Given the description of an element on the screen output the (x, y) to click on. 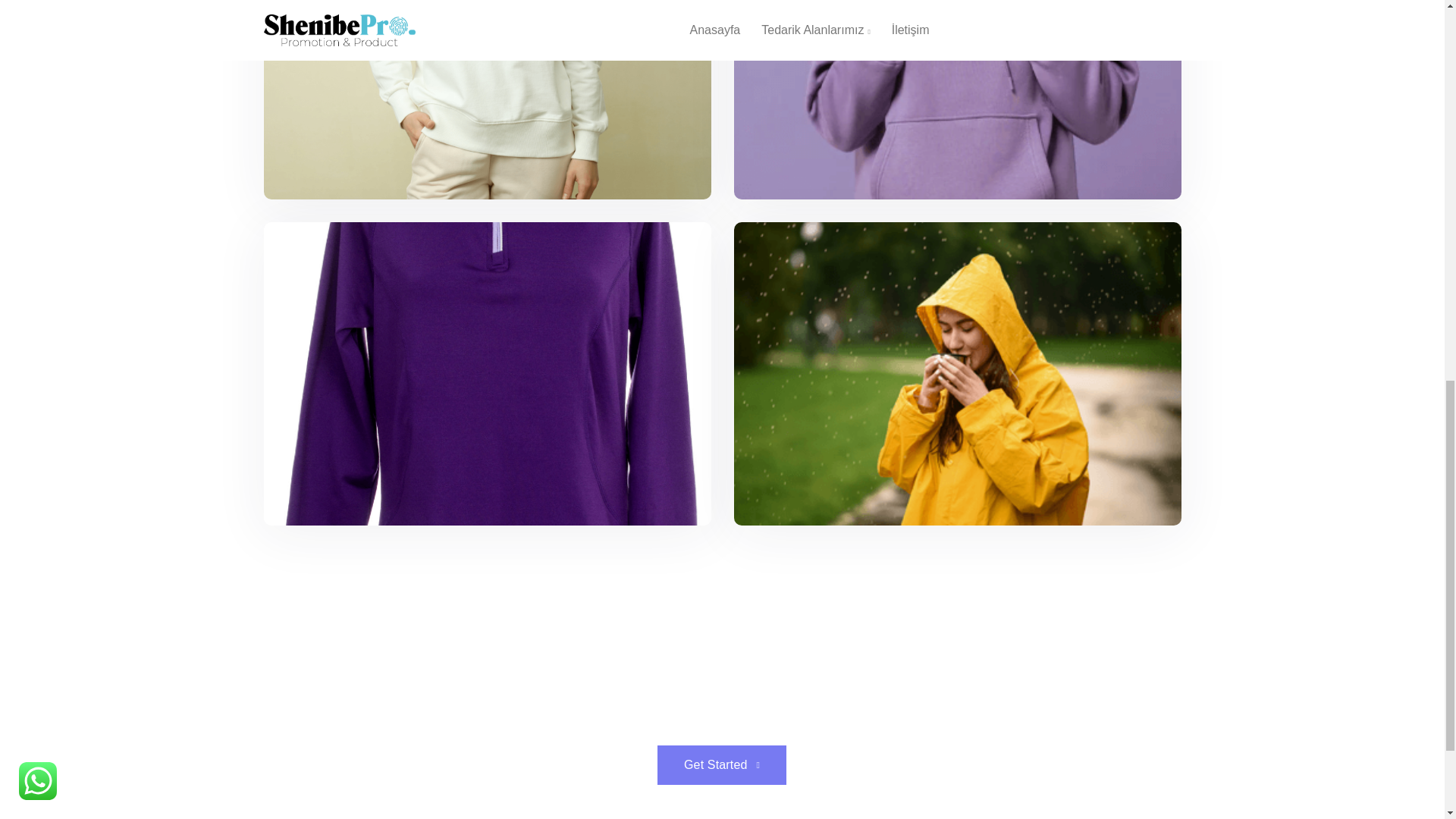
Sweatshirt (487, 99)
Hoodie (956, 99)
